Given the description of an element on the screen output the (x, y) to click on. 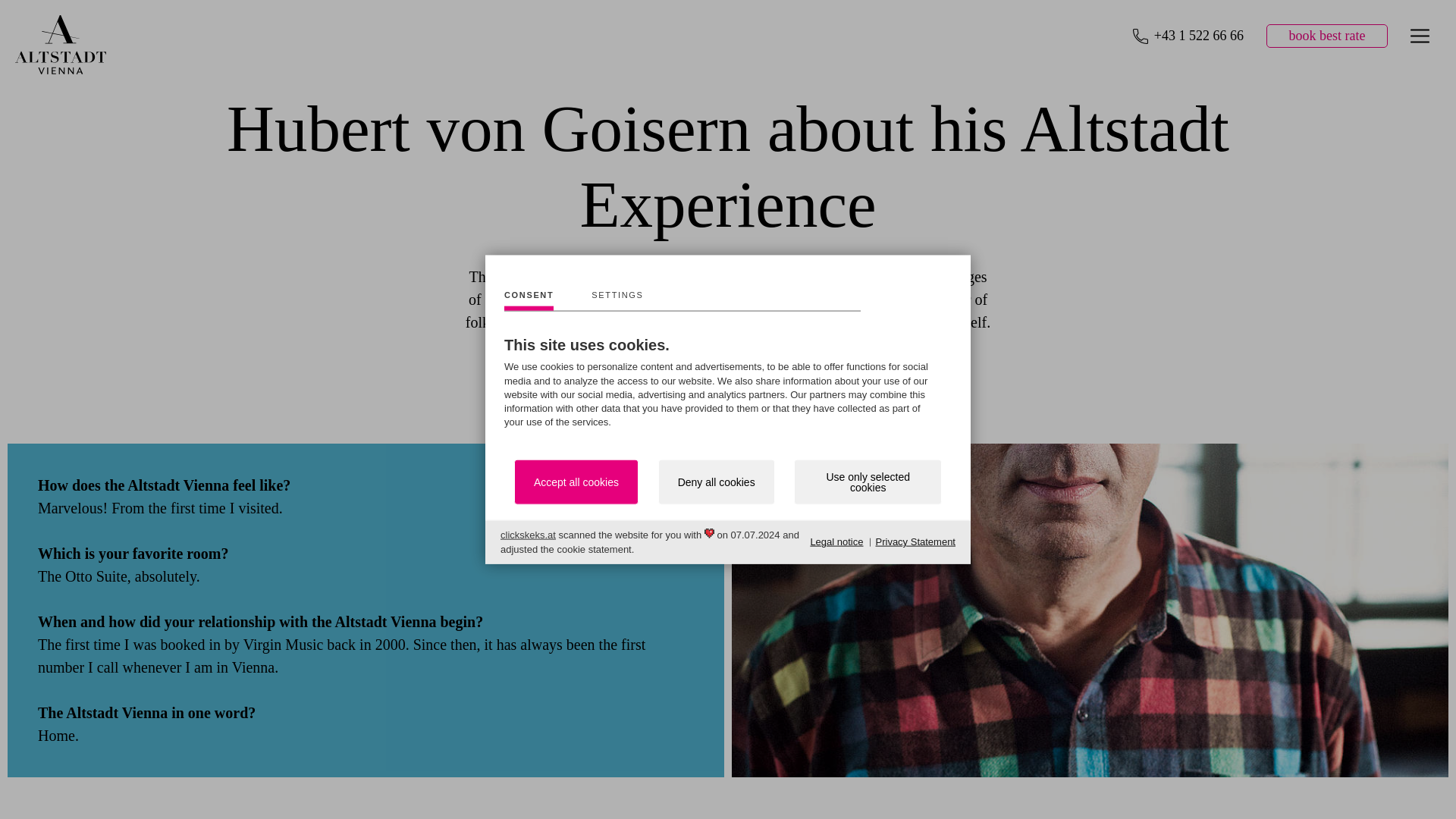
Altstadt Vienna - Call Us (1187, 35)
Altstadt Vienna - Book now (1326, 35)
book best rate (1326, 35)
Altstadt Vienna (60, 68)
